Given the description of an element on the screen output the (x, y) to click on. 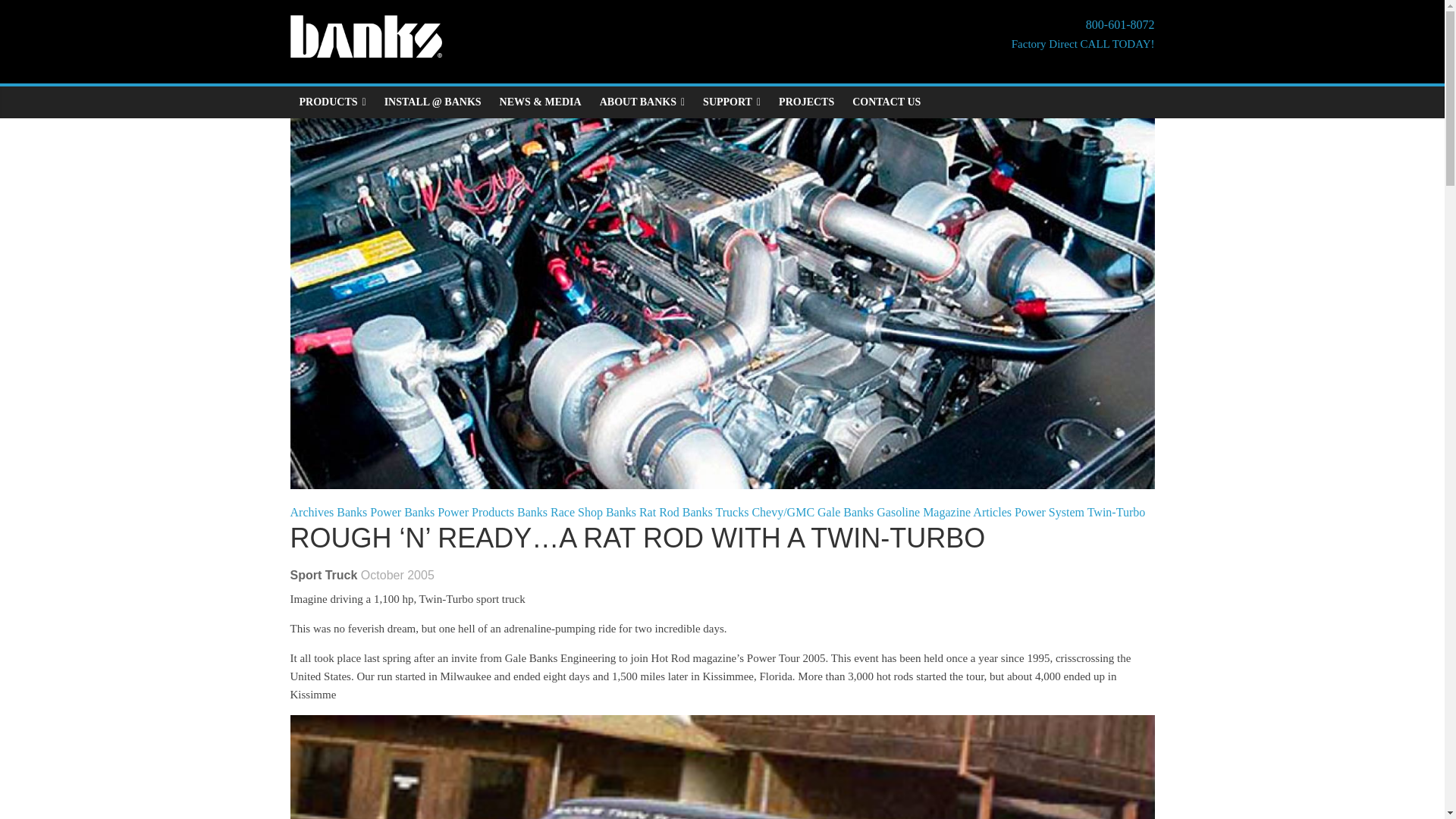
CONTACT US (886, 101)
PRODUCTS (331, 101)
PROJECTS (806, 101)
call us (1082, 35)
ABOUT BANKS (642, 101)
SUPPORT (732, 101)
